Given the description of an element on the screen output the (x, y) to click on. 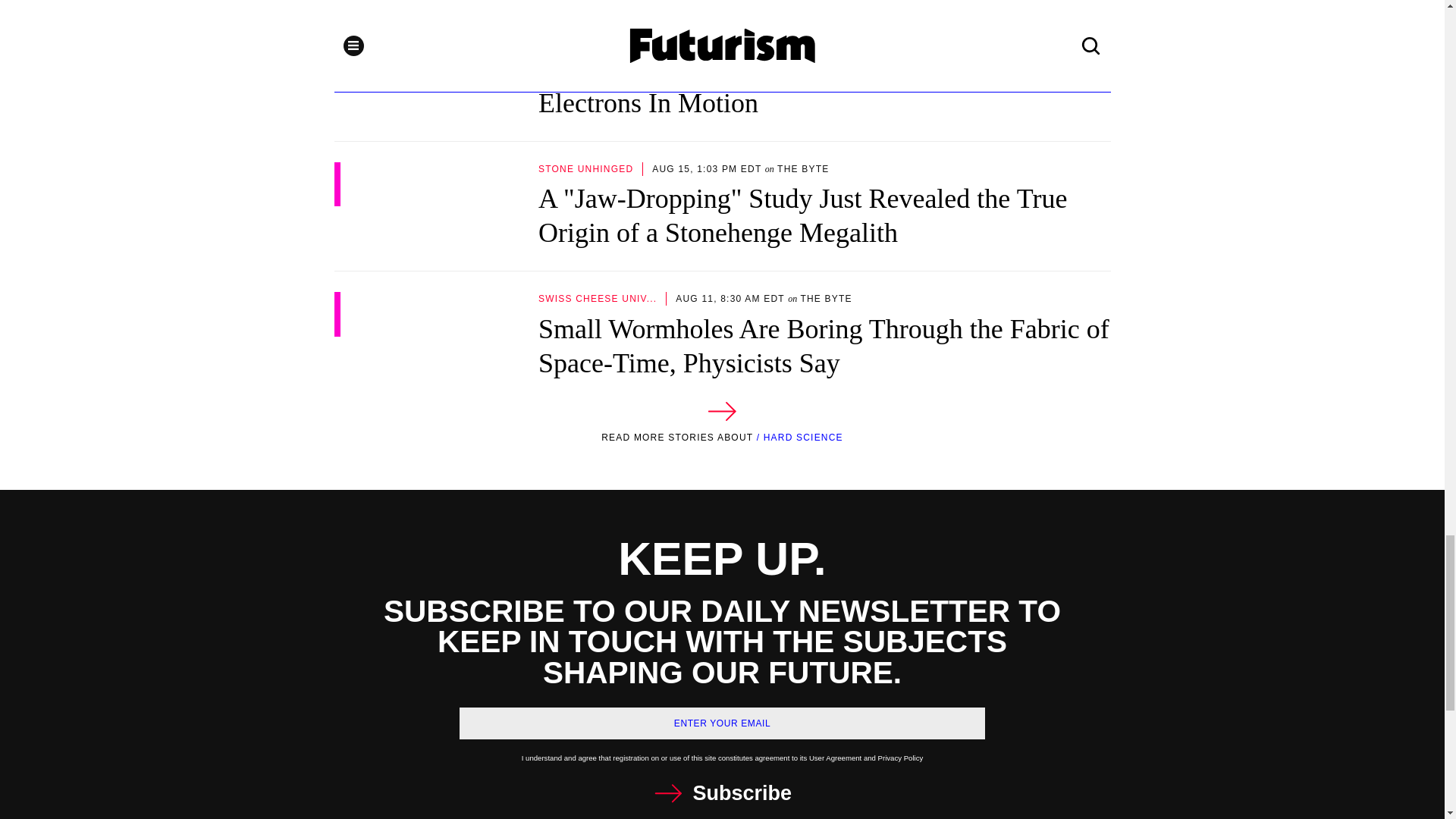
Subscribe (722, 793)
